Given the description of an element on the screen output the (x, y) to click on. 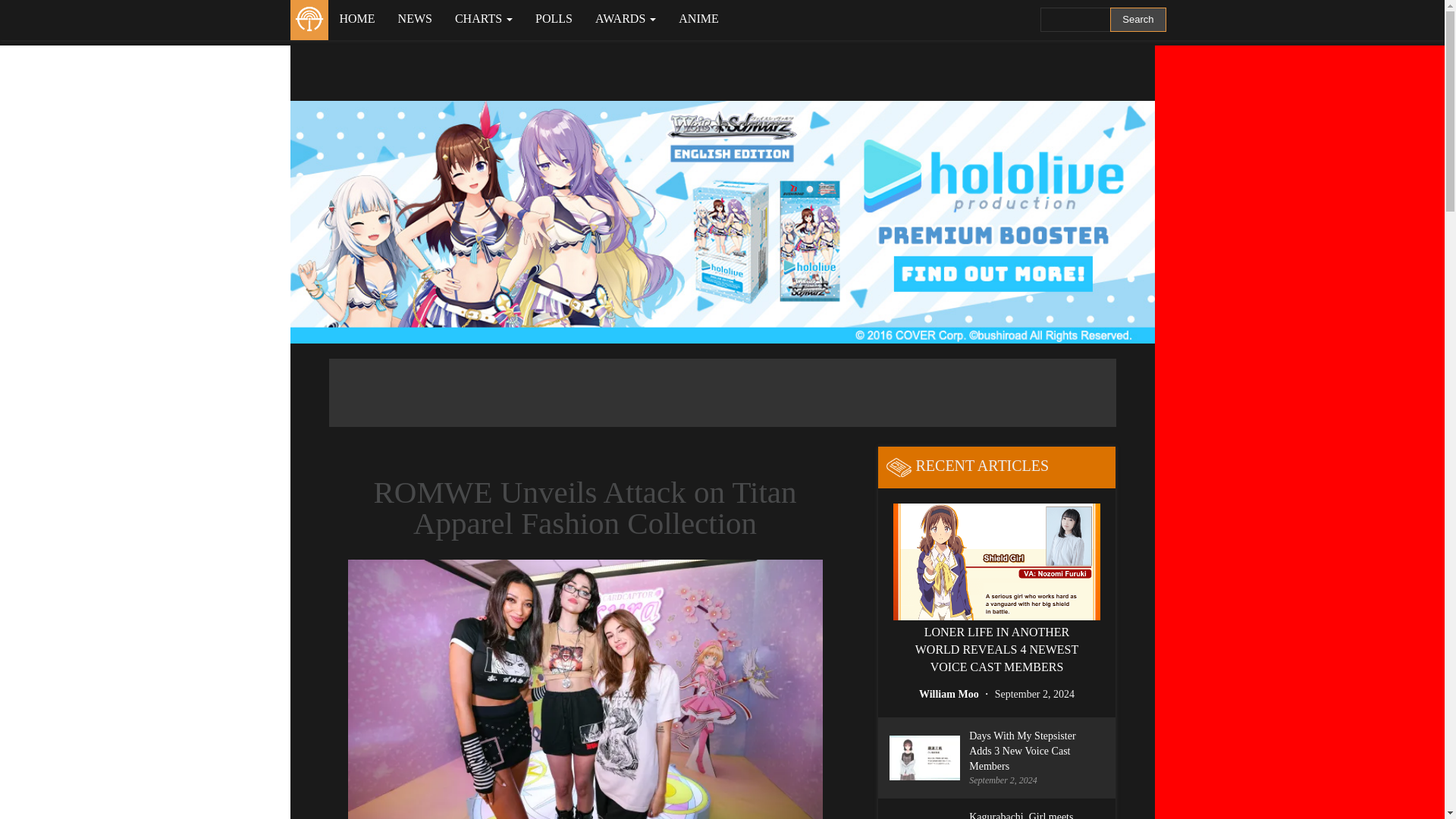
POLLS (553, 18)
ANIME (697, 18)
AWARDS (624, 18)
CHARTS (484, 18)
Search (1137, 19)
NEWS (415, 18)
JEN20874 (584, 689)
HOME (356, 18)
Search (1137, 19)
